Given the description of an element on the screen output the (x, y) to click on. 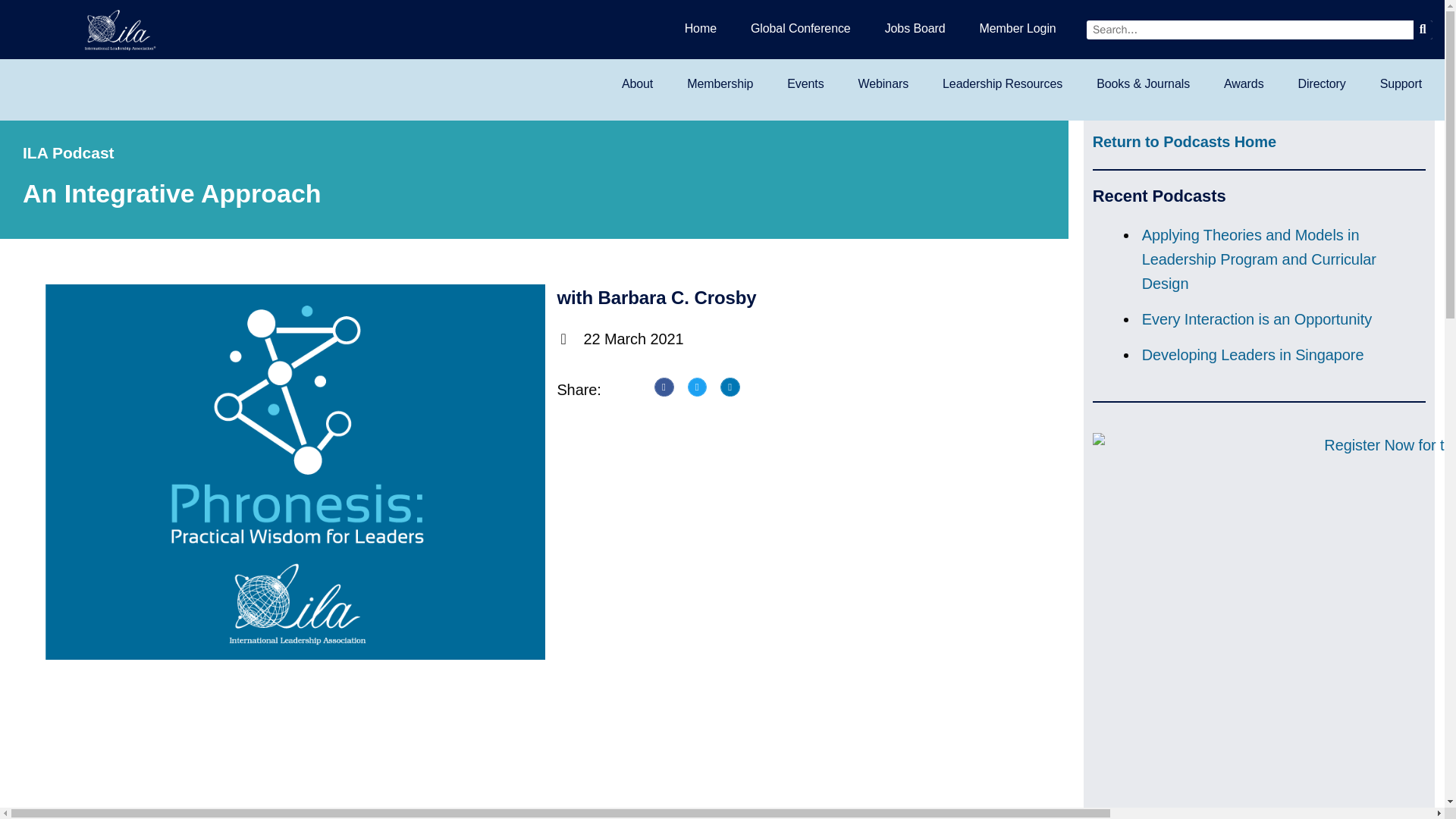
Global Conference (800, 28)
Webinars (883, 83)
Home (700, 28)
About (637, 83)
Jobs Board (914, 28)
Member Login (1017, 28)
Events (804, 83)
Membership (719, 83)
Leadership Resources (1002, 83)
